Given the description of an element on the screen output the (x, y) to click on. 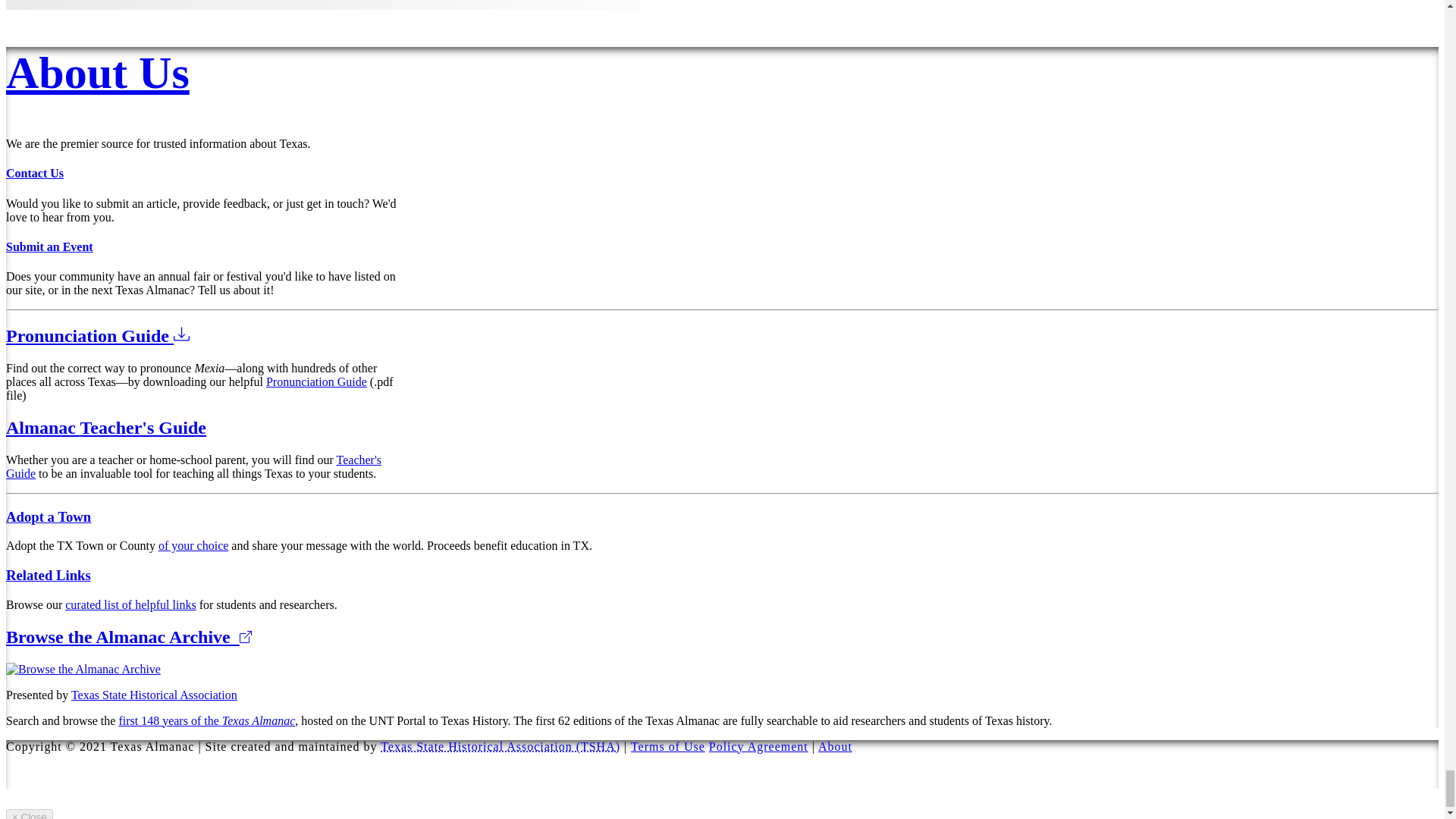
Submit an Event (49, 246)
Pronunciation Guide (97, 335)
Almanac Teacher's Guide (105, 427)
Teacher's Guide (193, 466)
About Us (97, 72)
Pronunciation Guide (316, 381)
Contact Us (34, 173)
Adopt a Town (47, 516)
